Given the description of an element on the screen output the (x, y) to click on. 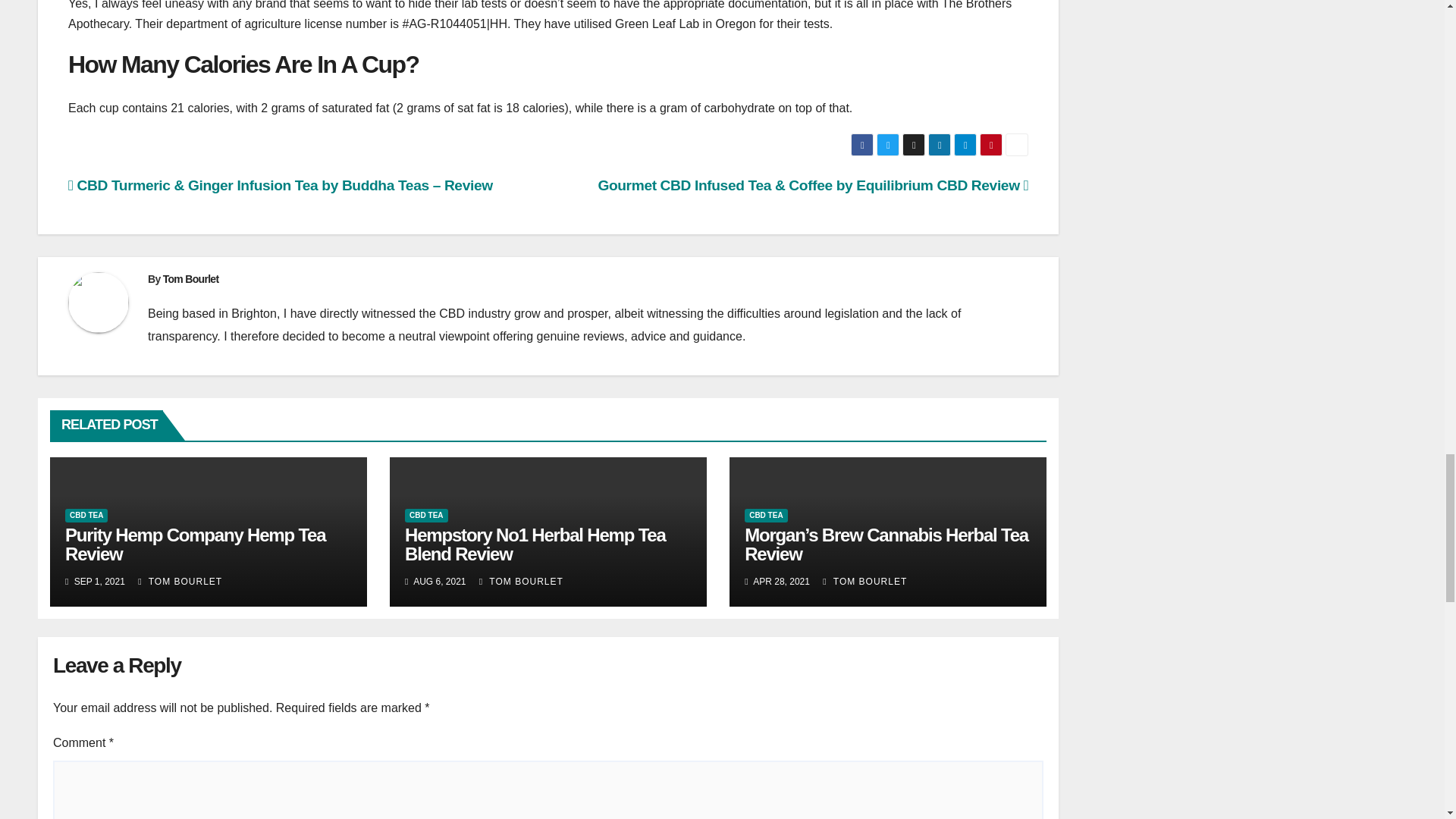
TOM BOURLET (180, 581)
Permalink to: Purity Hemp Company Hemp Tea Review (194, 544)
CBD TEA (86, 515)
Permalink to: Hempstory No1 Herbal Hemp Tea Blend Review (534, 544)
Tom Bourlet (191, 278)
Purity Hemp Company Hemp Tea Review (194, 544)
